Given the description of an element on the screen output the (x, y) to click on. 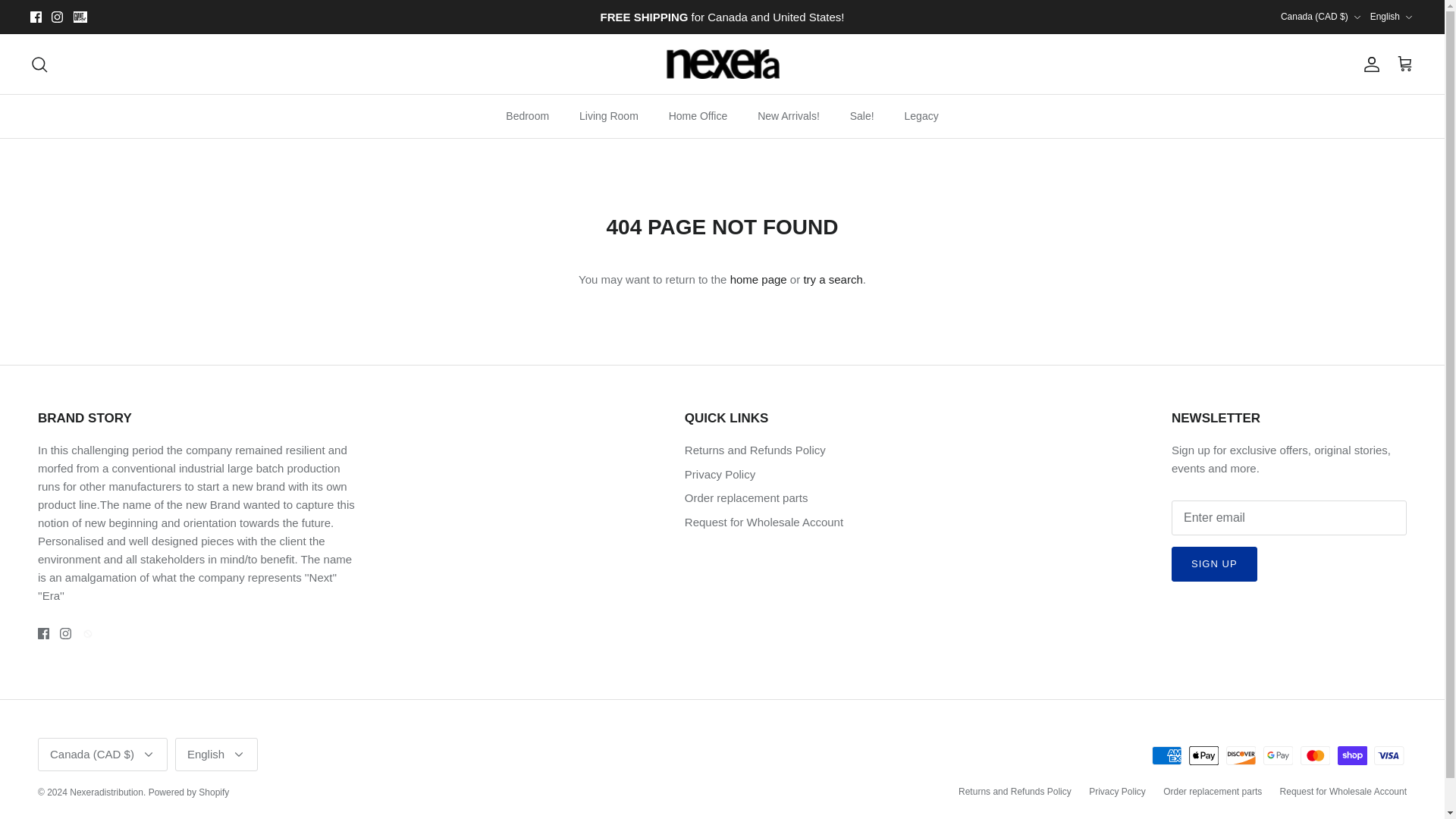
American Express (1166, 755)
Down (148, 754)
Discover (1240, 755)
Down (1357, 17)
New Arrivals! (788, 116)
Home Office (698, 116)
Shop Pay (1352, 755)
Facebook (43, 633)
Down (1391, 16)
